Given the description of an element on the screen output the (x, y) to click on. 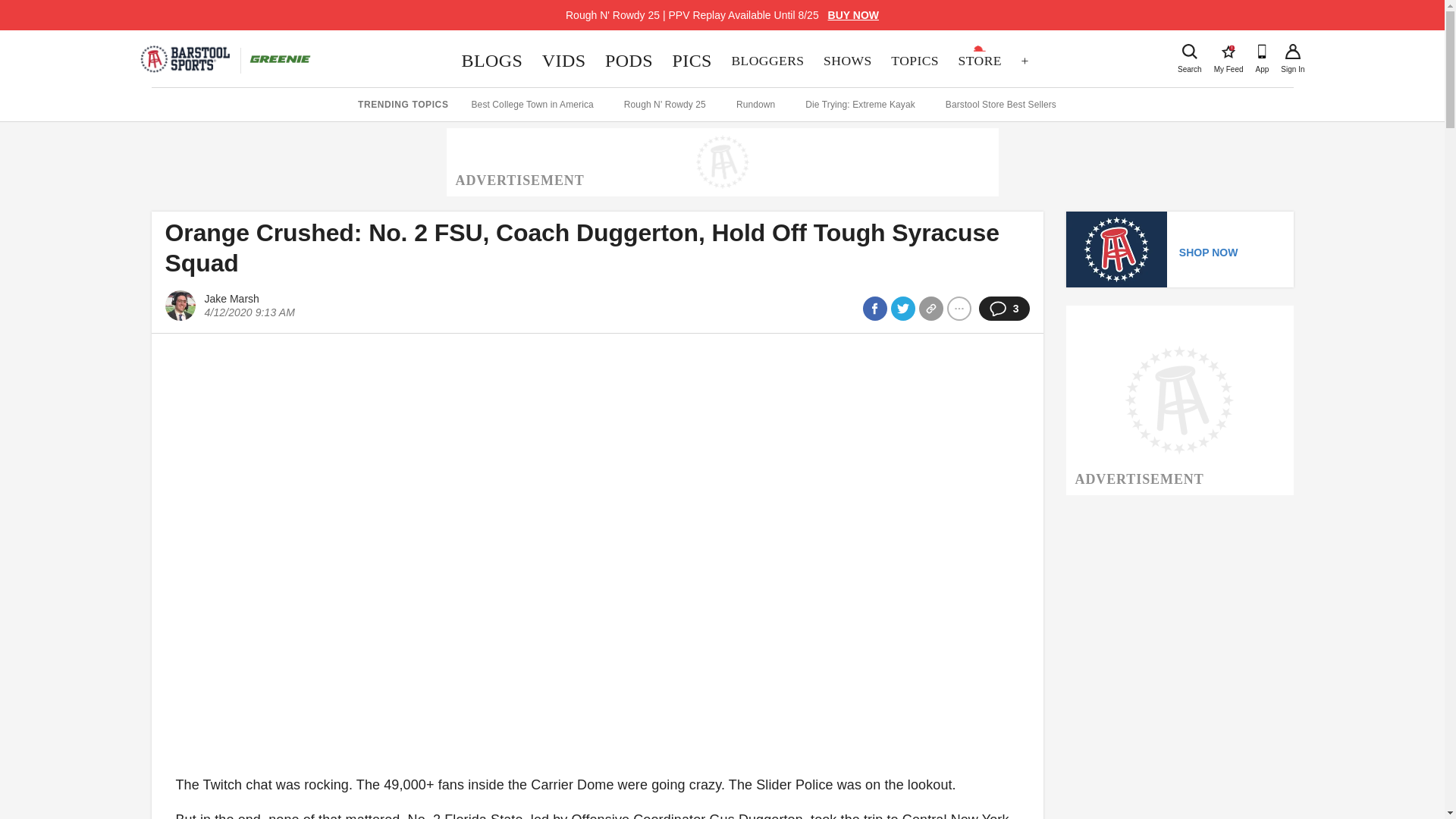
PODS (628, 60)
VIDS (563, 60)
Sign Up (1292, 51)
TOPICS (913, 60)
SHOWS (846, 60)
BLOGS (491, 60)
STORE (980, 60)
PICS (1228, 51)
BUY NOW (692, 60)
